Given the description of an element on the screen output the (x, y) to click on. 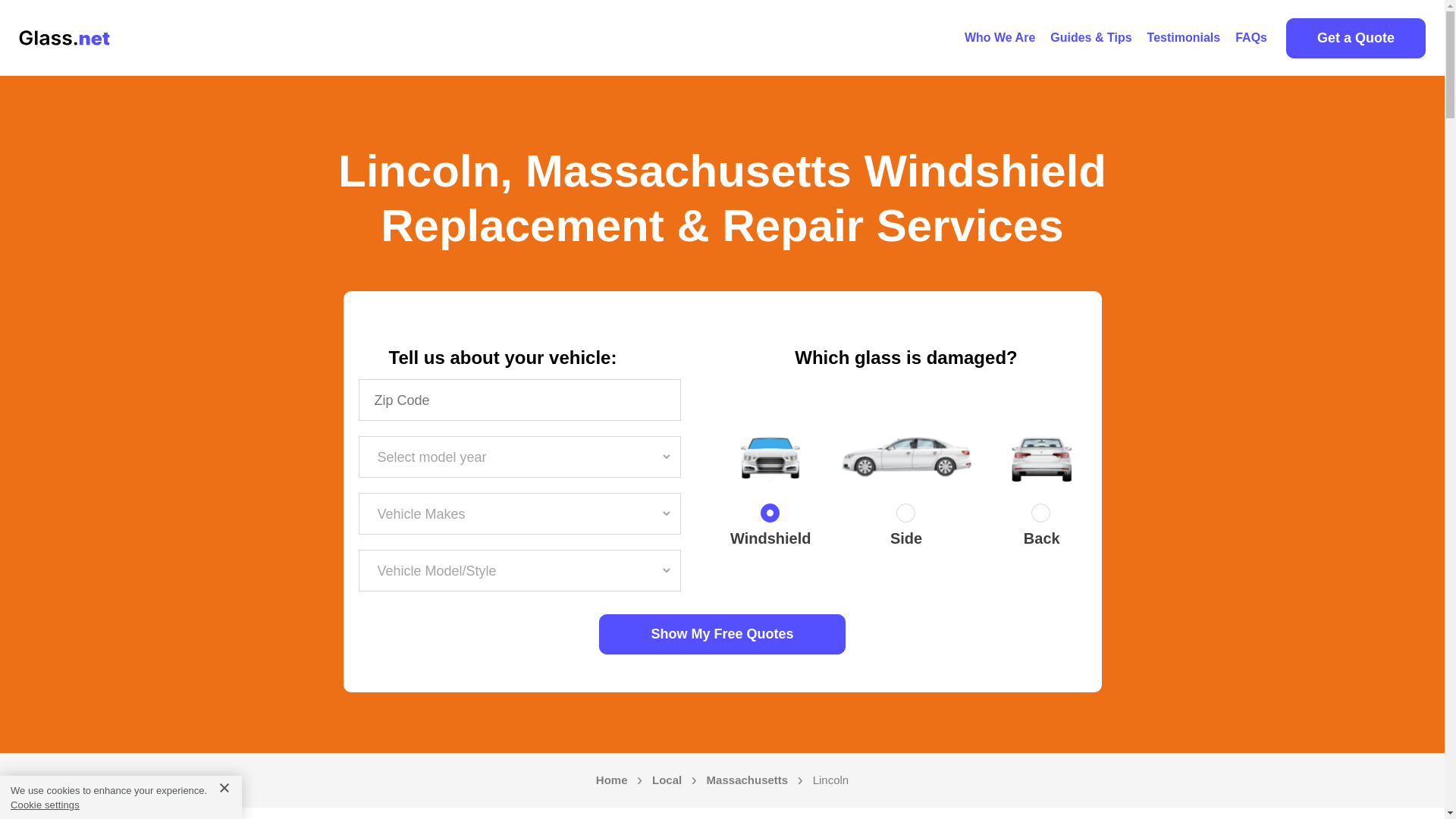
Home (611, 780)
FAQs (1251, 37)
Get a Quote (1355, 38)
back (1041, 516)
How to Choose Auto Glass (1090, 37)
Lincoln (830, 780)
Who We Are (999, 37)
Local (666, 780)
Testimonials (1184, 37)
front (770, 516)
